Given the description of an element on the screen output the (x, y) to click on. 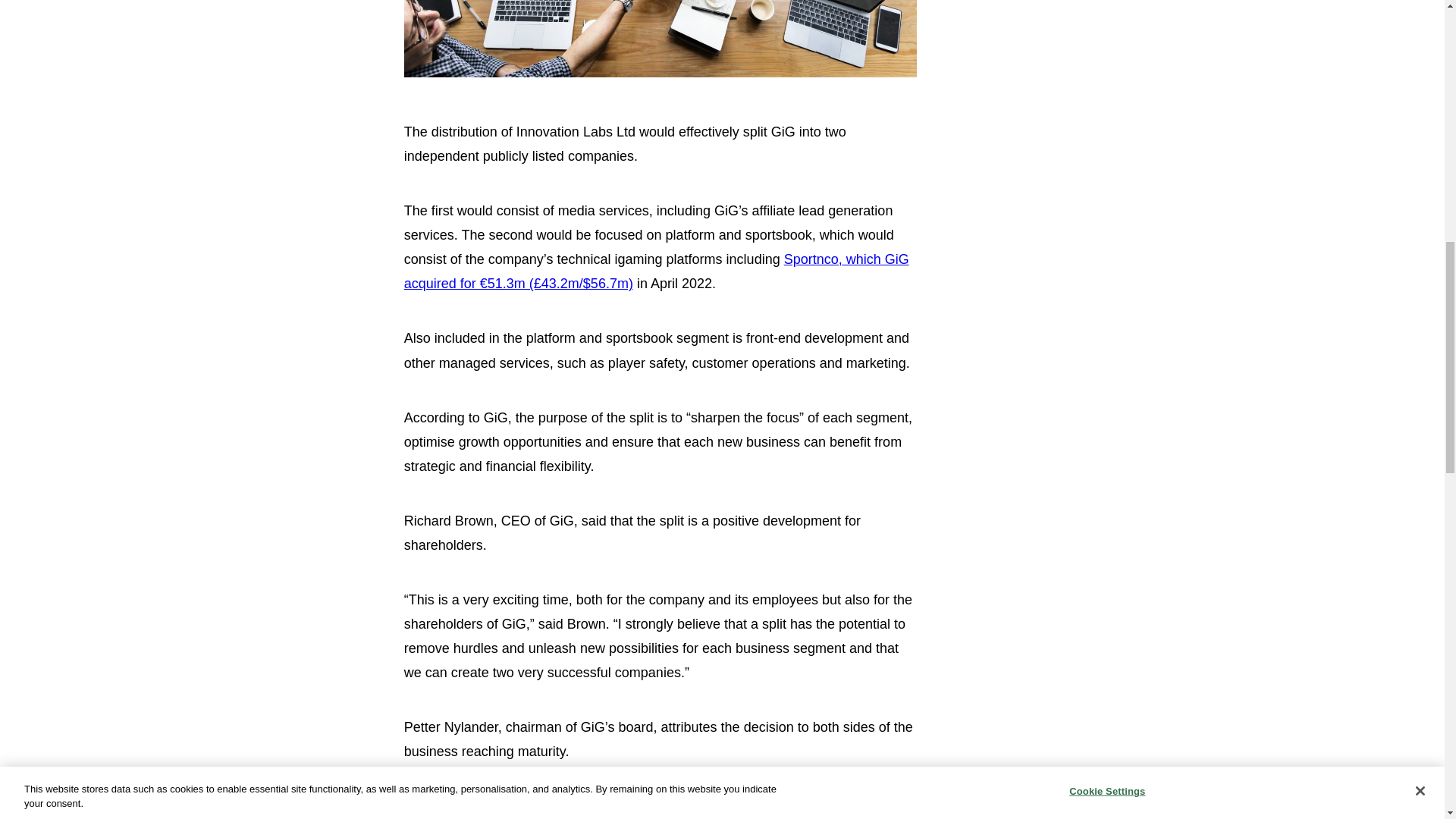
3rd party ad content (1090, 250)
